Given the description of an element on the screen output the (x, y) to click on. 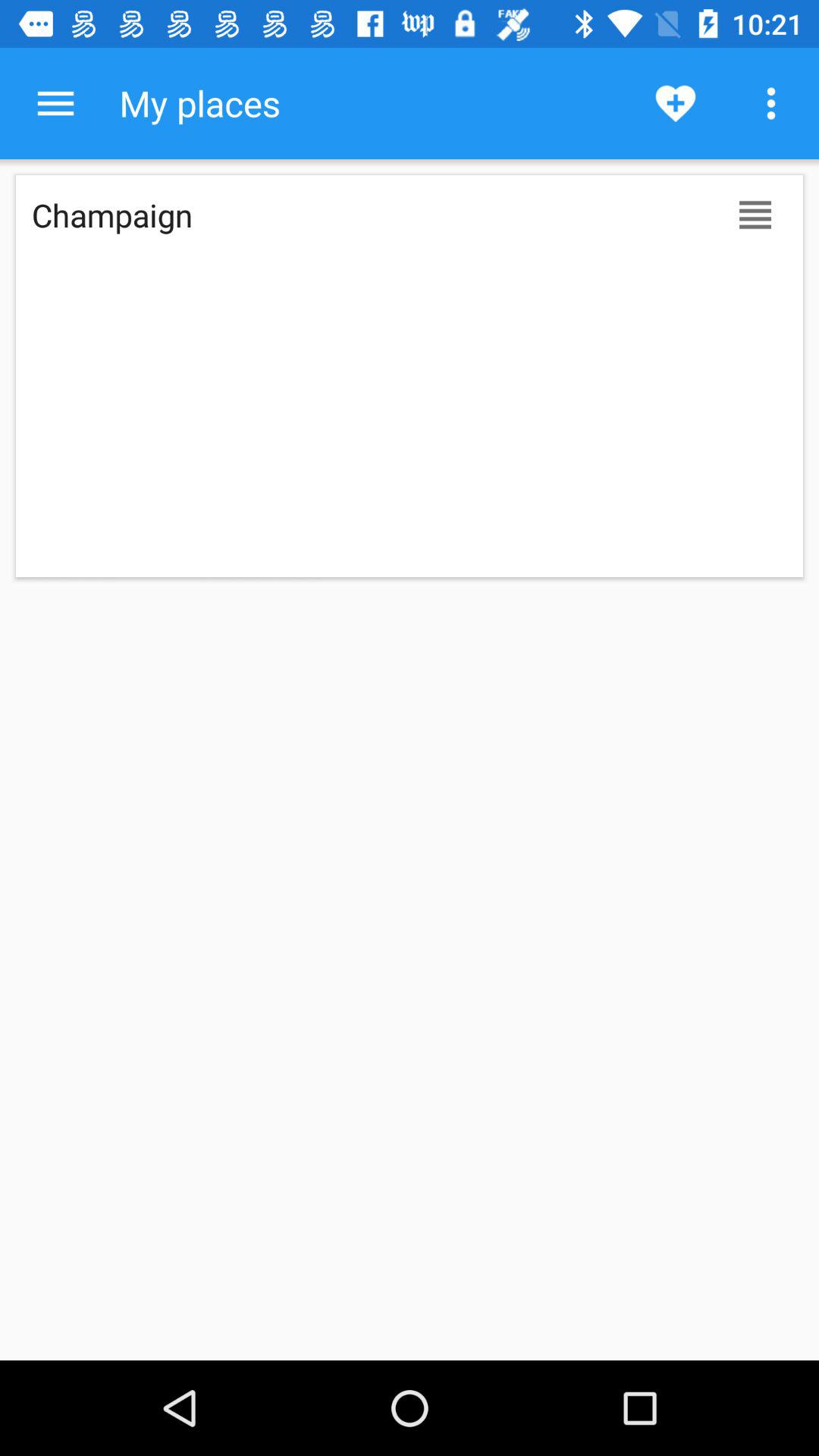
select additional functions (55, 103)
